Given the description of an element on the screen output the (x, y) to click on. 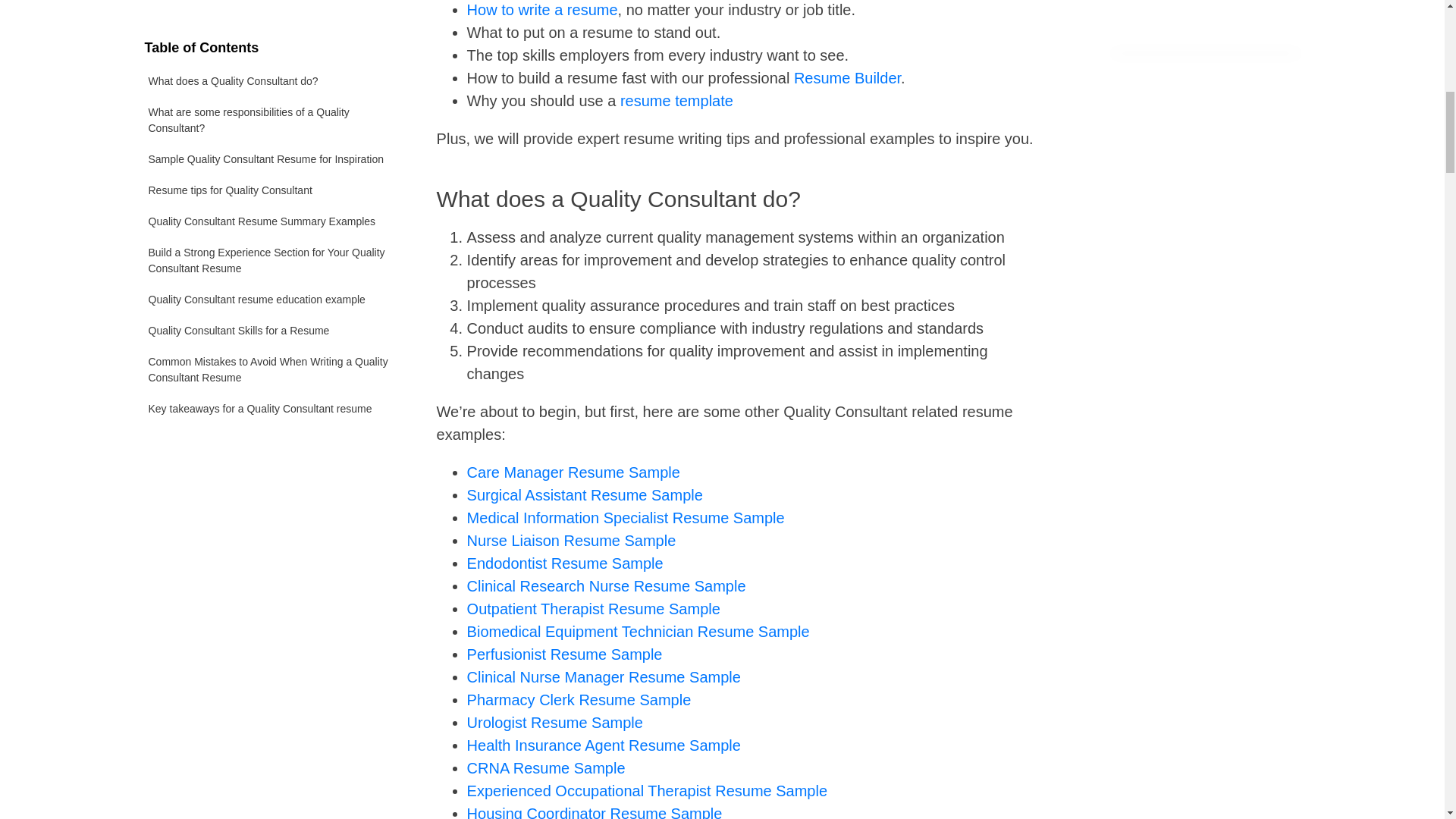
Quality Consultant Skills for a Resume (270, 101)
Resume Builder (847, 77)
Outpatient Therapist Resume Sample (593, 608)
Key takeaways for a Quality Consultant resume (270, 179)
Quality Consultant Resume Summary Examples (270, 4)
Surgical Assistant Resume Sample (585, 494)
Nurse Liaison Resume Sample (572, 540)
resume template (676, 100)
